Given the description of an element on the screen output the (x, y) to click on. 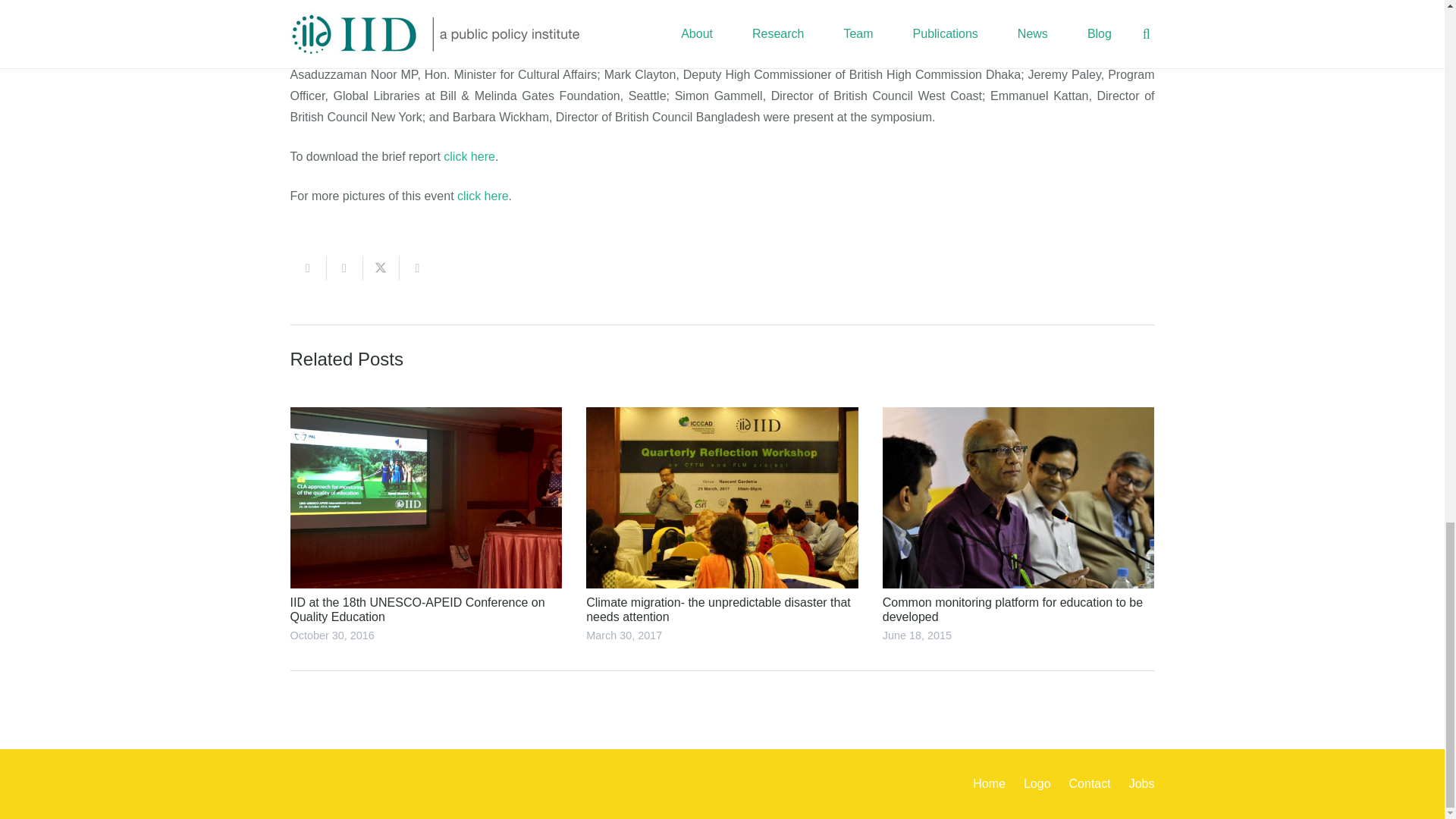
Logo (1037, 783)
Home (989, 783)
Tweet this (380, 268)
click here (469, 155)
Common monitoring platform for education to be developed (1012, 609)
Share this (344, 268)
Email this (307, 268)
Contact (1089, 783)
IID at the 18th UNESCO-APEID Conference on Quality Education (416, 609)
Jobs (1141, 783)
